Given the description of an element on the screen output the (x, y) to click on. 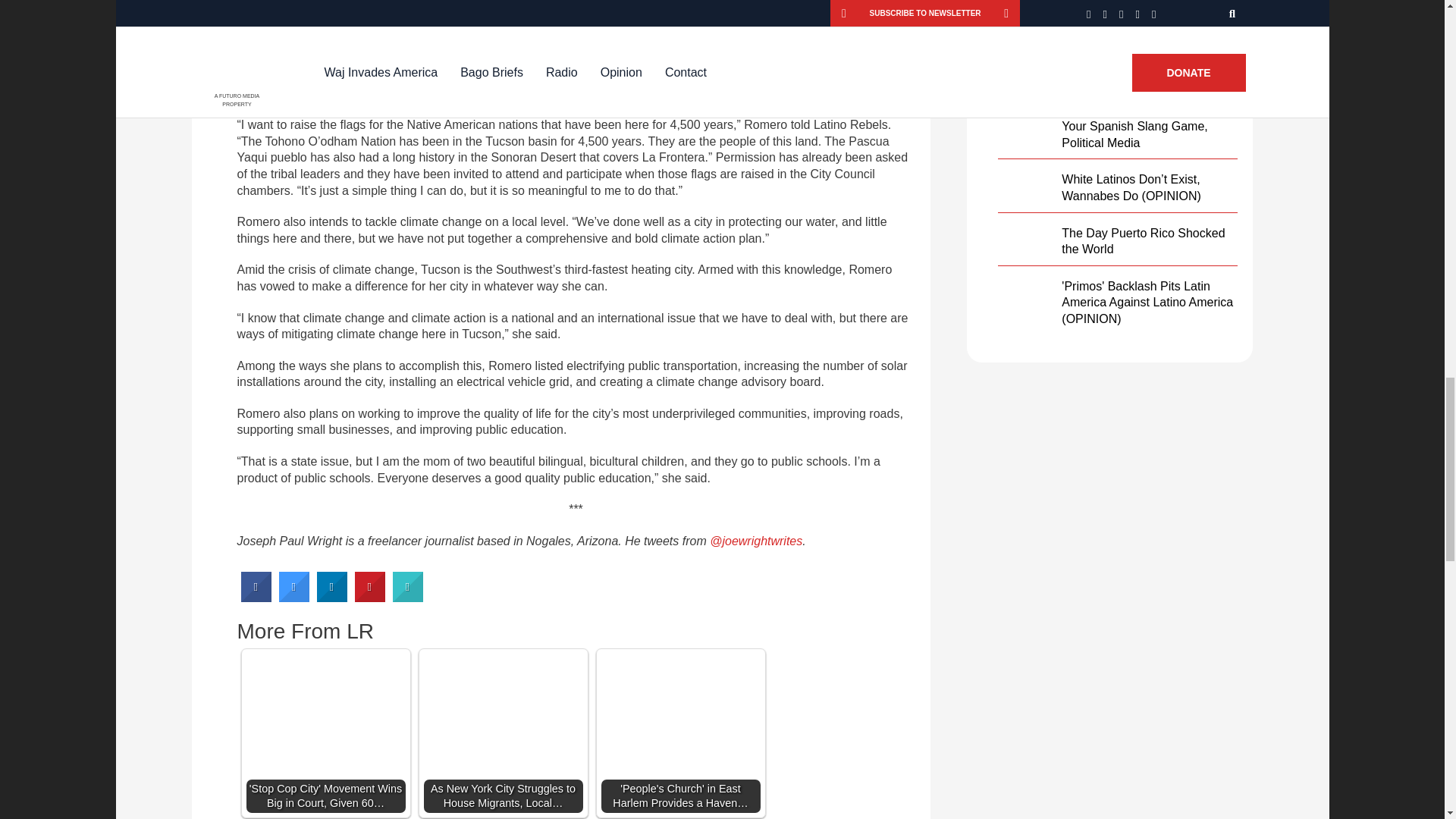
Share on Facebook (255, 597)
Share on Twitter (293, 597)
Share on Pinterest (370, 597)
Print this page (408, 597)
Share to LinkedIn (332, 597)
